Given the description of an element on the screen output the (x, y) to click on. 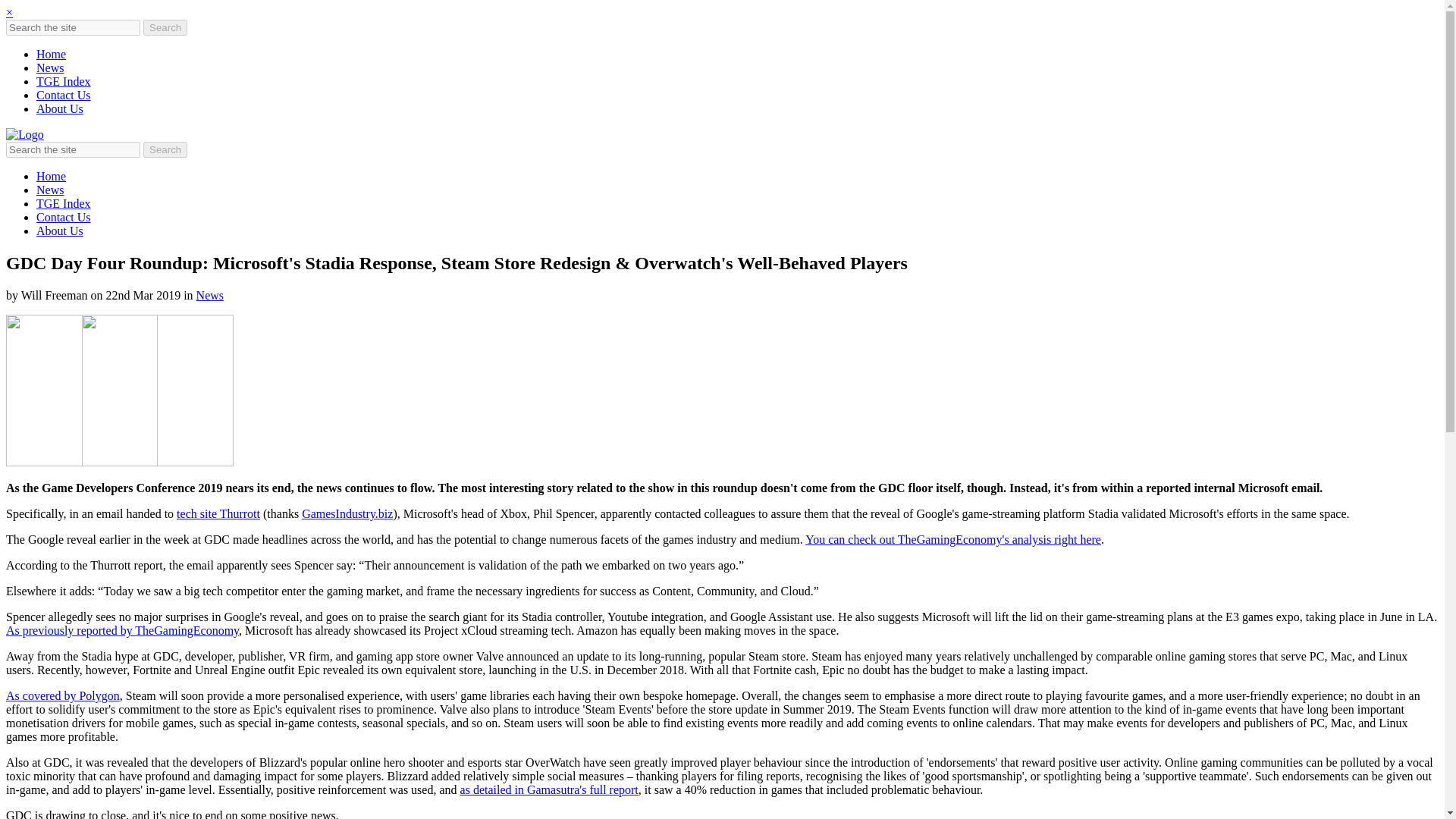
Search (164, 149)
Search (164, 27)
As covered by Polygon (62, 695)
GamesIndustry.biz (347, 513)
Search (164, 27)
Home (50, 175)
As previously reported by TheGamingEconomy (121, 630)
News (50, 189)
News (210, 295)
Search (164, 27)
You can check out TheGamingEconomy's analysis right here (952, 539)
About Us (59, 108)
TGE Index (63, 81)
Search (164, 149)
Search (164, 149)
